Given the description of an element on the screen output the (x, y) to click on. 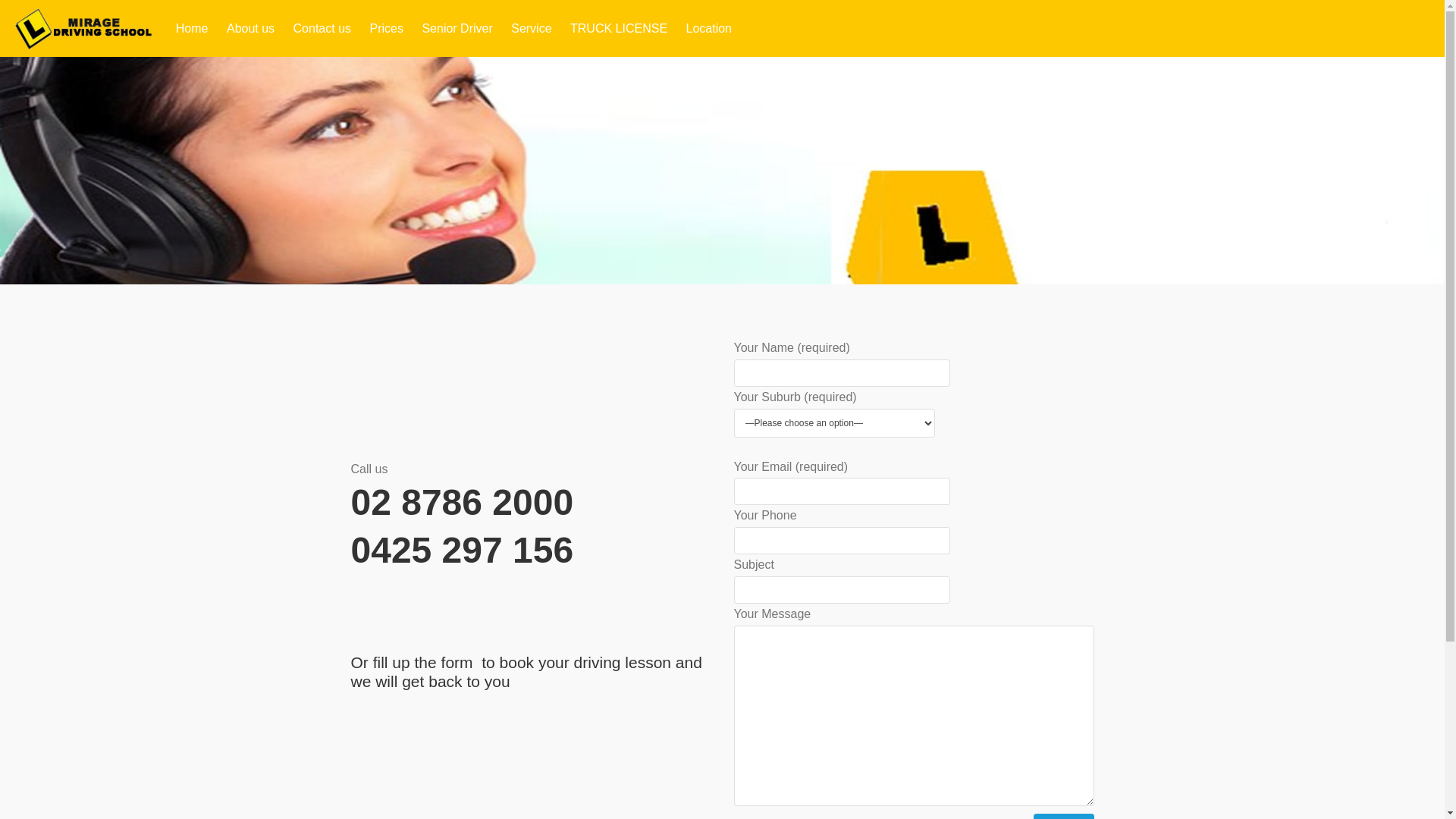
Contact us Element type: text (321, 28)
Prices Element type: text (386, 28)
Home Element type: text (192, 28)
Senior Driver Element type: text (456, 28)
Service Element type: text (530, 28)
About us Element type: text (250, 28)
Location Element type: text (709, 28)
TRUCK LICENSE Element type: text (618, 28)
